Given the description of an element on the screen output the (x, y) to click on. 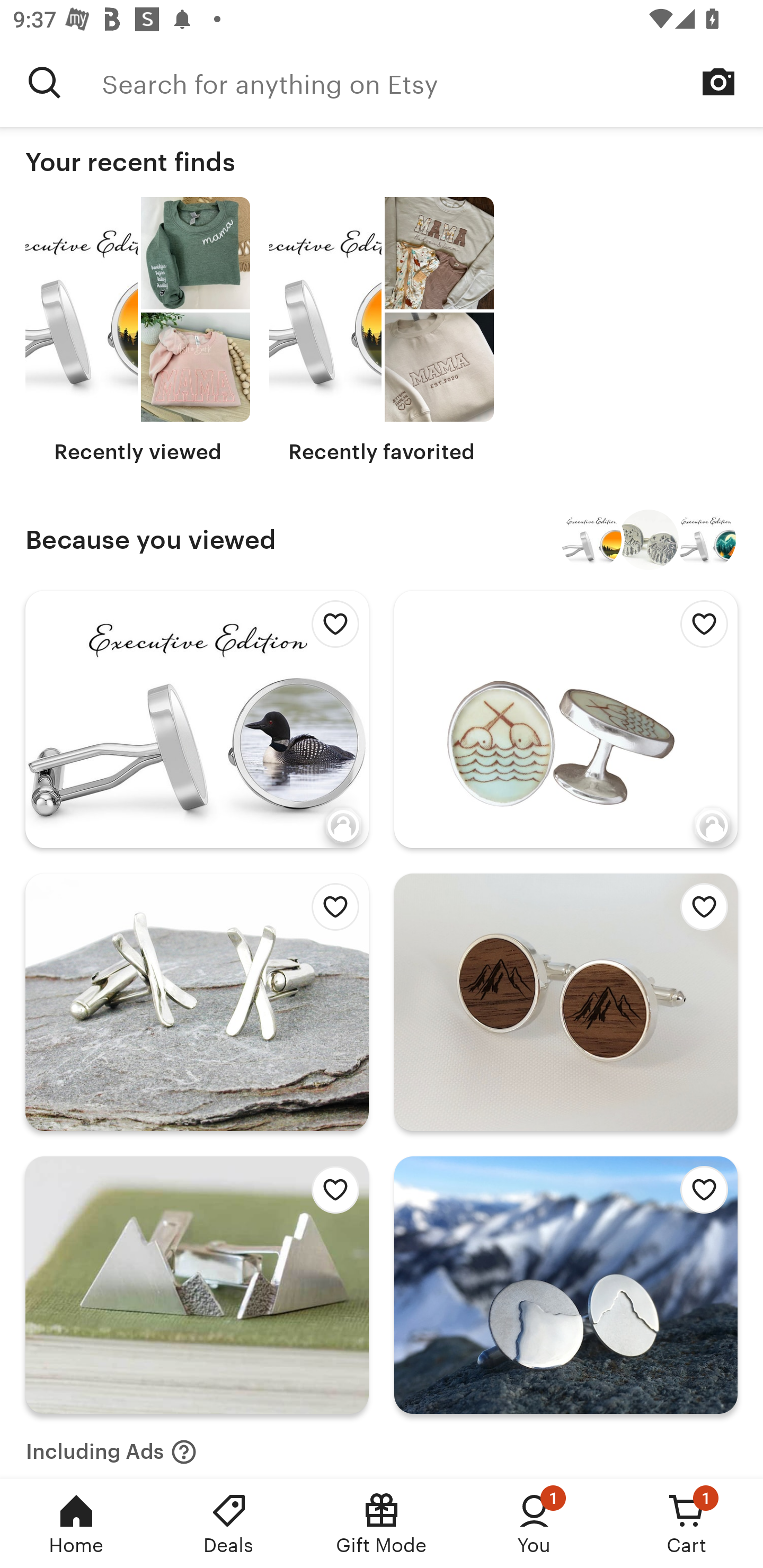
Search for anything on Etsy (44, 82)
Search by image (718, 81)
Search for anything on Etsy (432, 82)
Recently viewed (137, 330)
Recently favorited (381, 330)
Including Ads (111, 1446)
Deals (228, 1523)
Gift Mode (381, 1523)
You, 1 new notification You (533, 1523)
Cart, 1 new notification Cart (686, 1523)
